Given the description of an element on the screen output the (x, y) to click on. 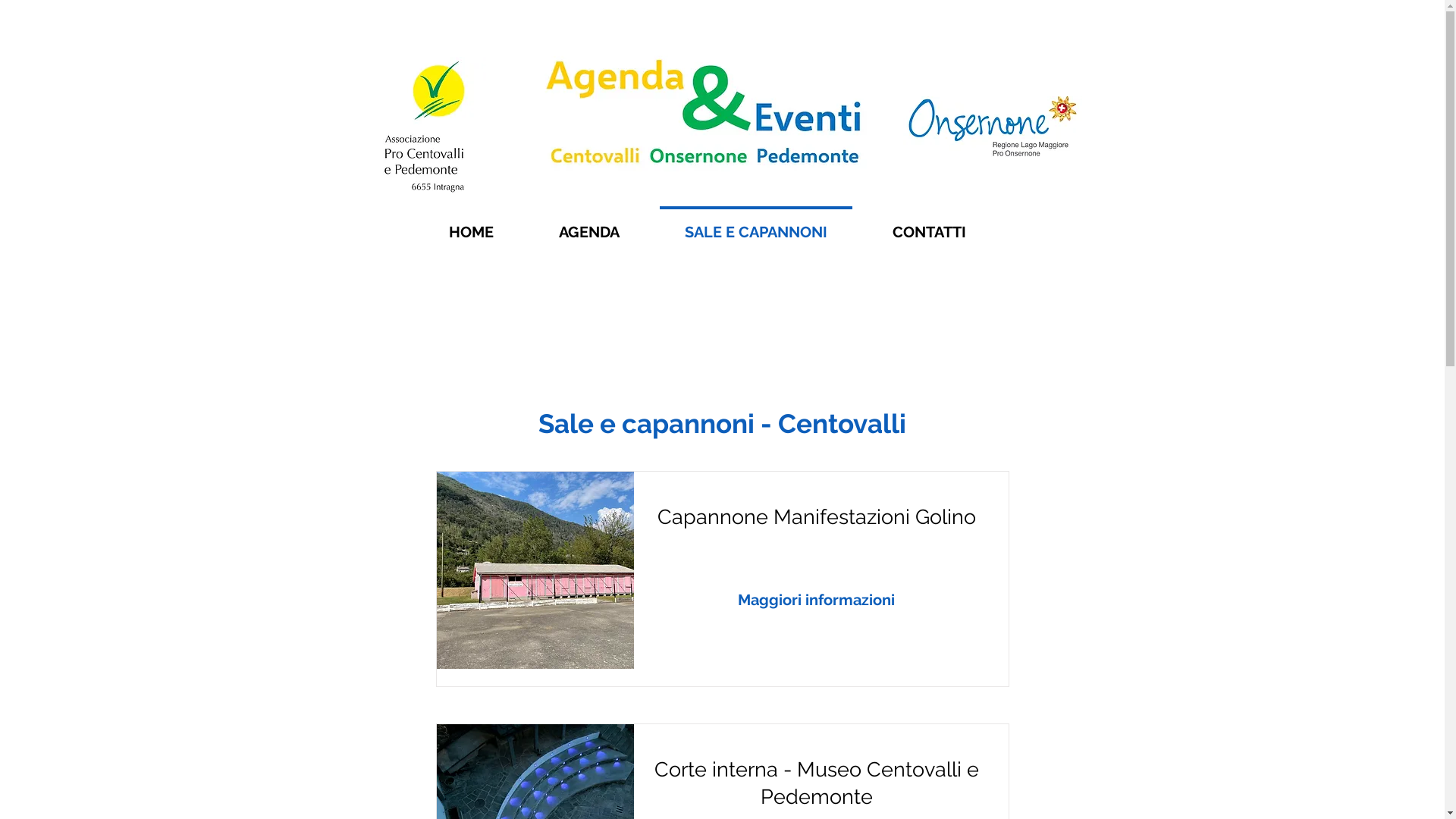
AGENDA Element type: text (589, 225)
CONTATTI Element type: text (928, 225)
SALE E CAPANNONI Element type: text (755, 225)
Capannone Manifestazioni Golino Element type: hover (534, 569)
HOME Element type: text (470, 225)
Maggiori informazioni Element type: text (866, 599)
